Given the description of an element on the screen output the (x, y) to click on. 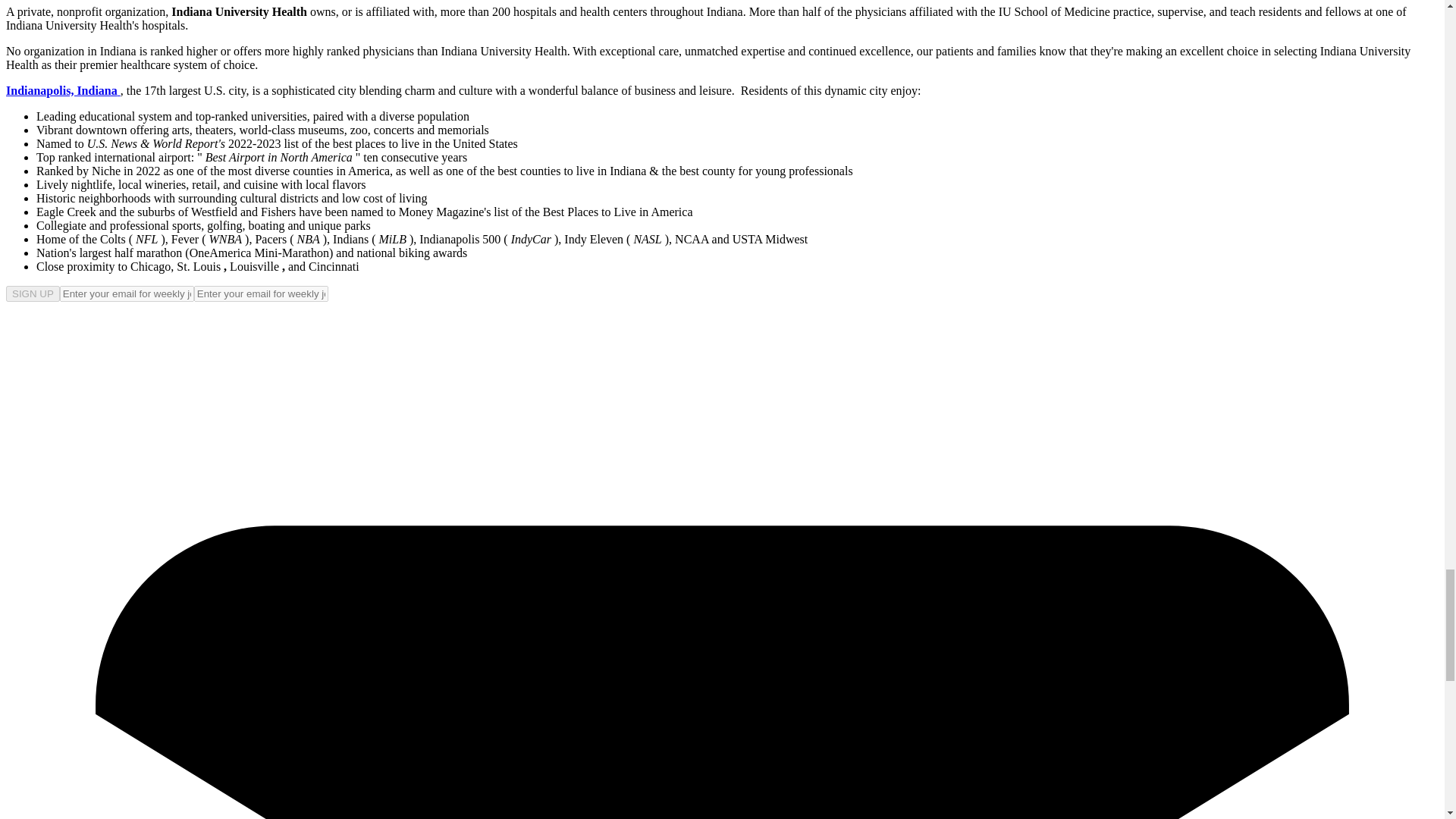
SIGN UP (32, 293)
Indianapolis, Indiana (62, 90)
